Given the description of an element on the screen output the (x, y) to click on. 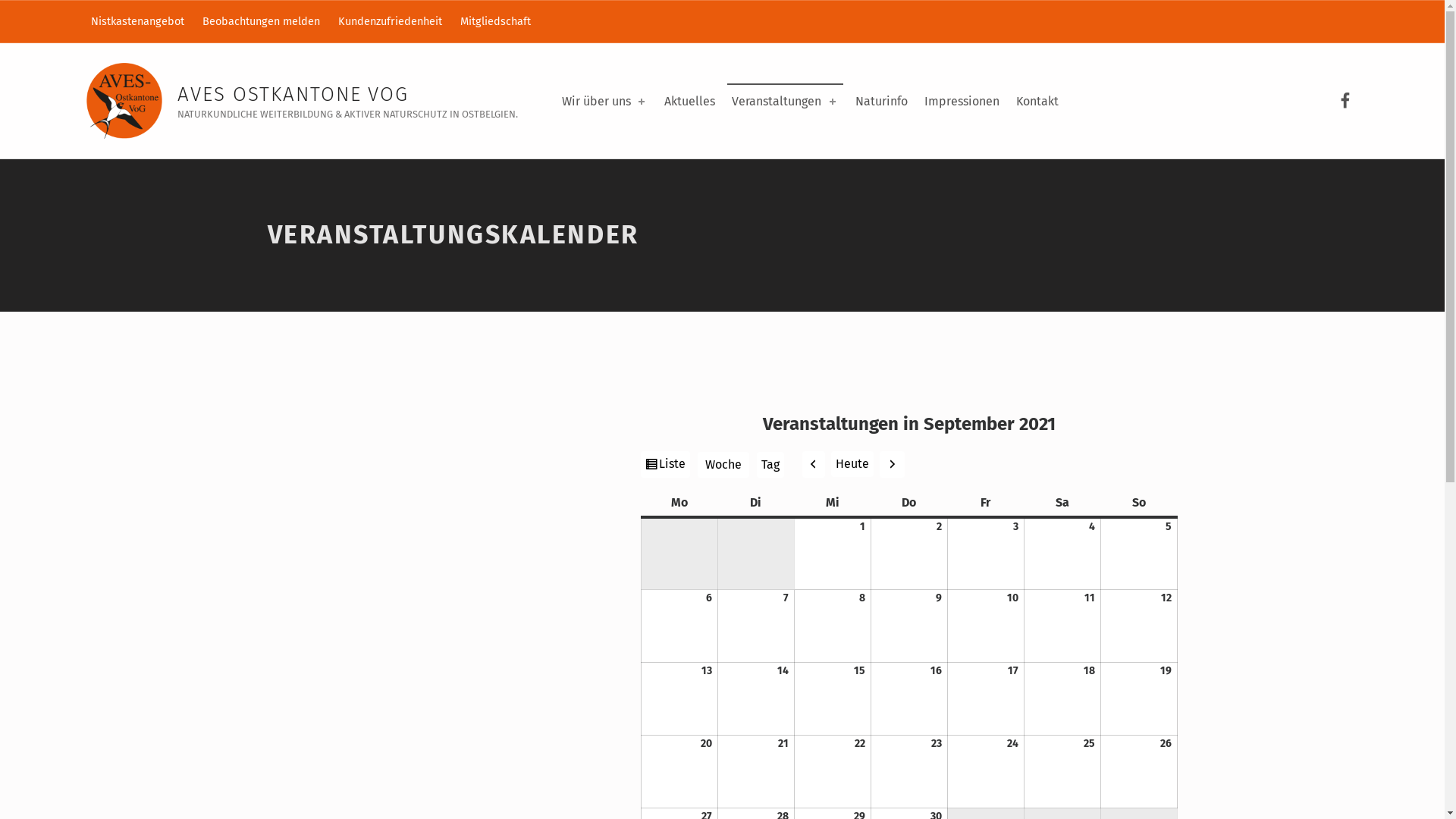
AVES OSTKANTONE VOG Element type: text (292, 94)
Veranstaltungen Element type: text (784, 101)
Kundenzufriedenheit Element type: text (389, 21)
Woche Element type: text (723, 464)
Beobachtungen melden Element type: text (260, 21)
Nistkastenangebot Element type: text (137, 21)
Anzeigen Element type: text (55, 10)
Weiter Element type: text (891, 464)
Naturinfo Element type: text (881, 101)
Heute Element type: text (852, 463)
Ansicht als
Liste Element type: text (664, 464)
Aktuelles Element type: text (689, 101)
Kontakt Element type: text (1037, 101)
Tag Element type: text (770, 464)
Impressionen Element type: text (961, 101)
Mitgliedschaft Element type: text (494, 21)
AVES Ostkantone bei Facebook Element type: text (1344, 100)
